Given the description of an element on the screen output the (x, y) to click on. 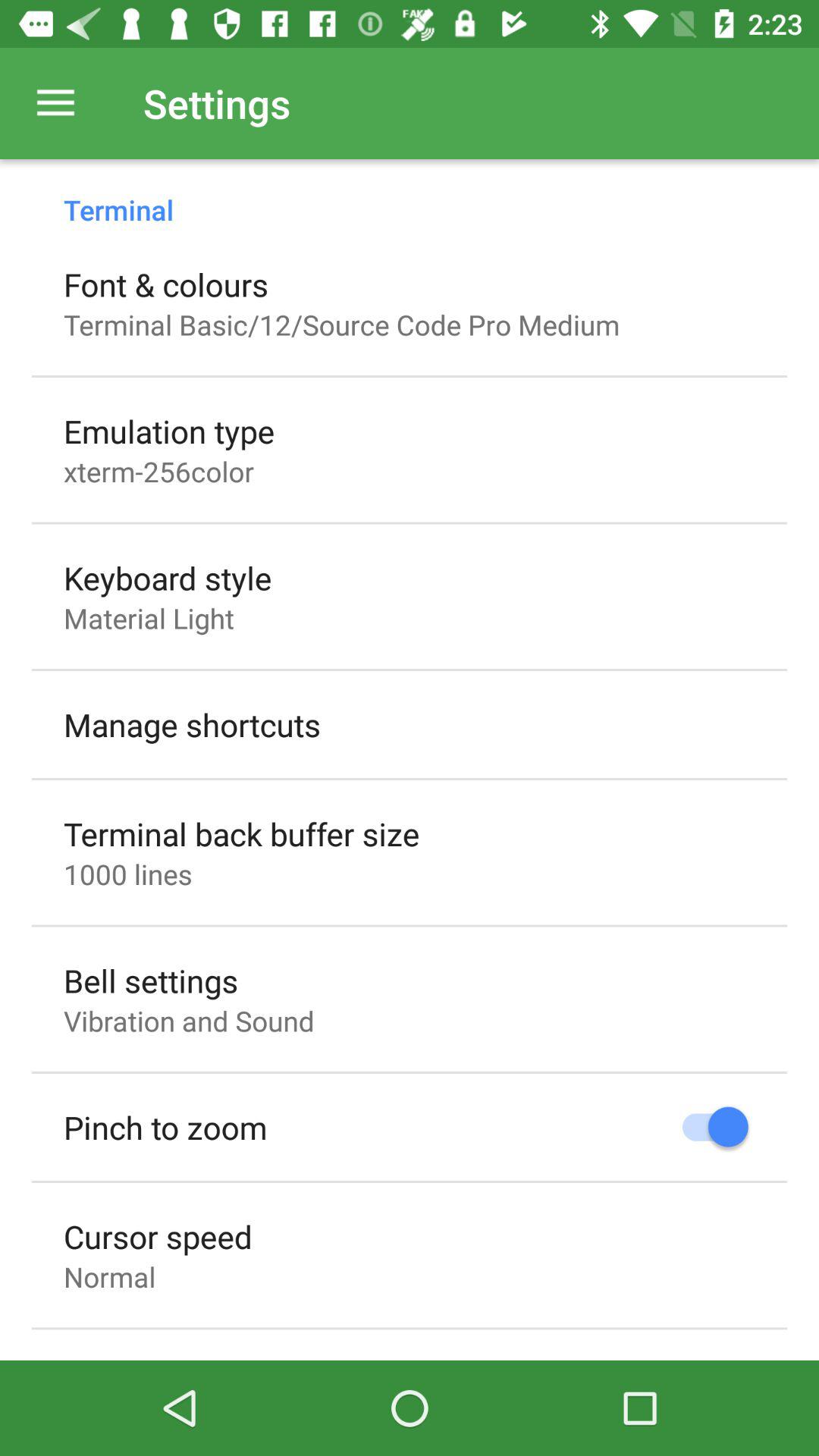
tap item below the pinch to zoom icon (157, 1236)
